Given the description of an element on the screen output the (x, y) to click on. 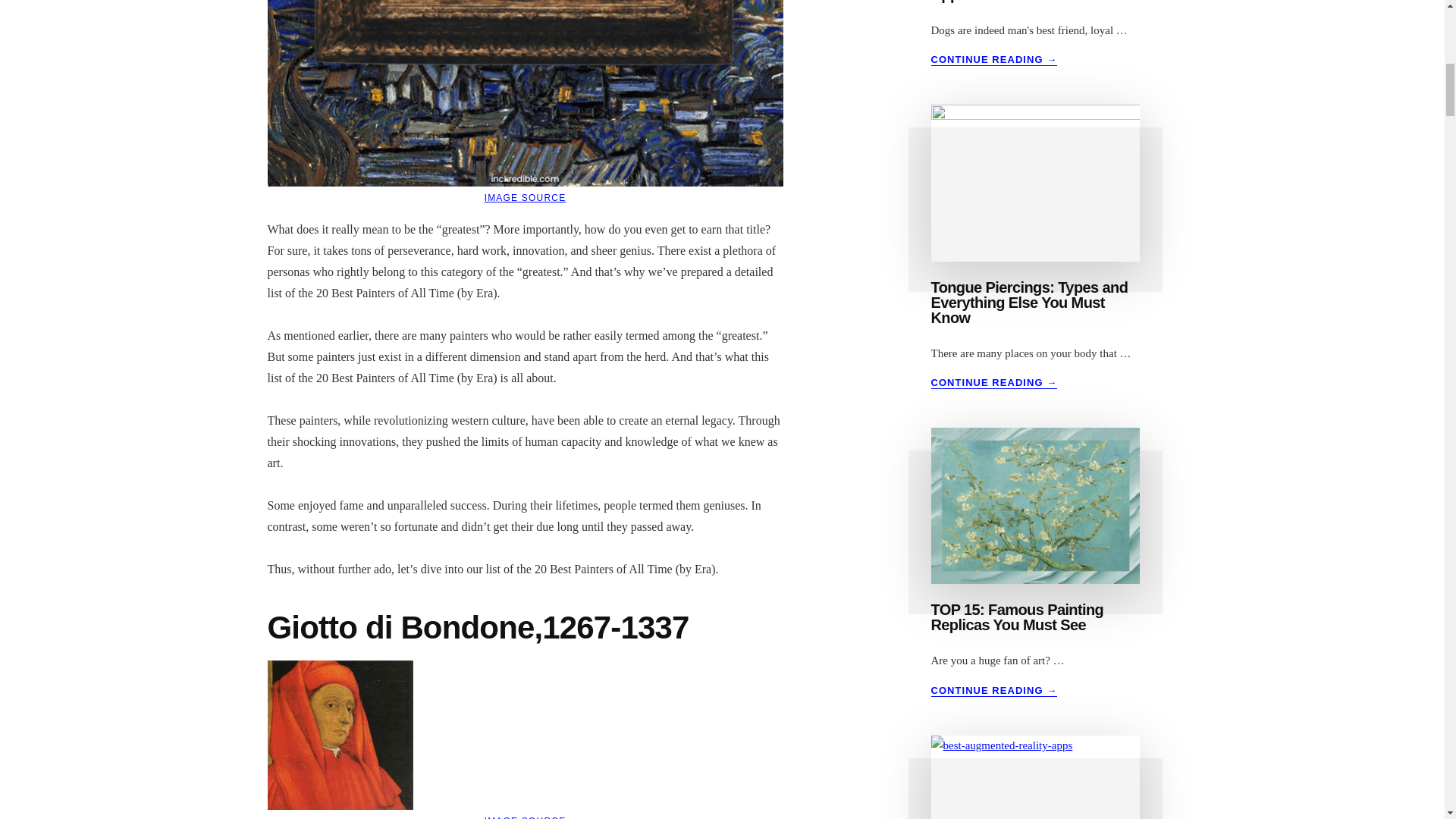
IMAGE SOURCE (525, 817)
IMAGE SOURCE (525, 197)
